Given the description of an element on the screen output the (x, y) to click on. 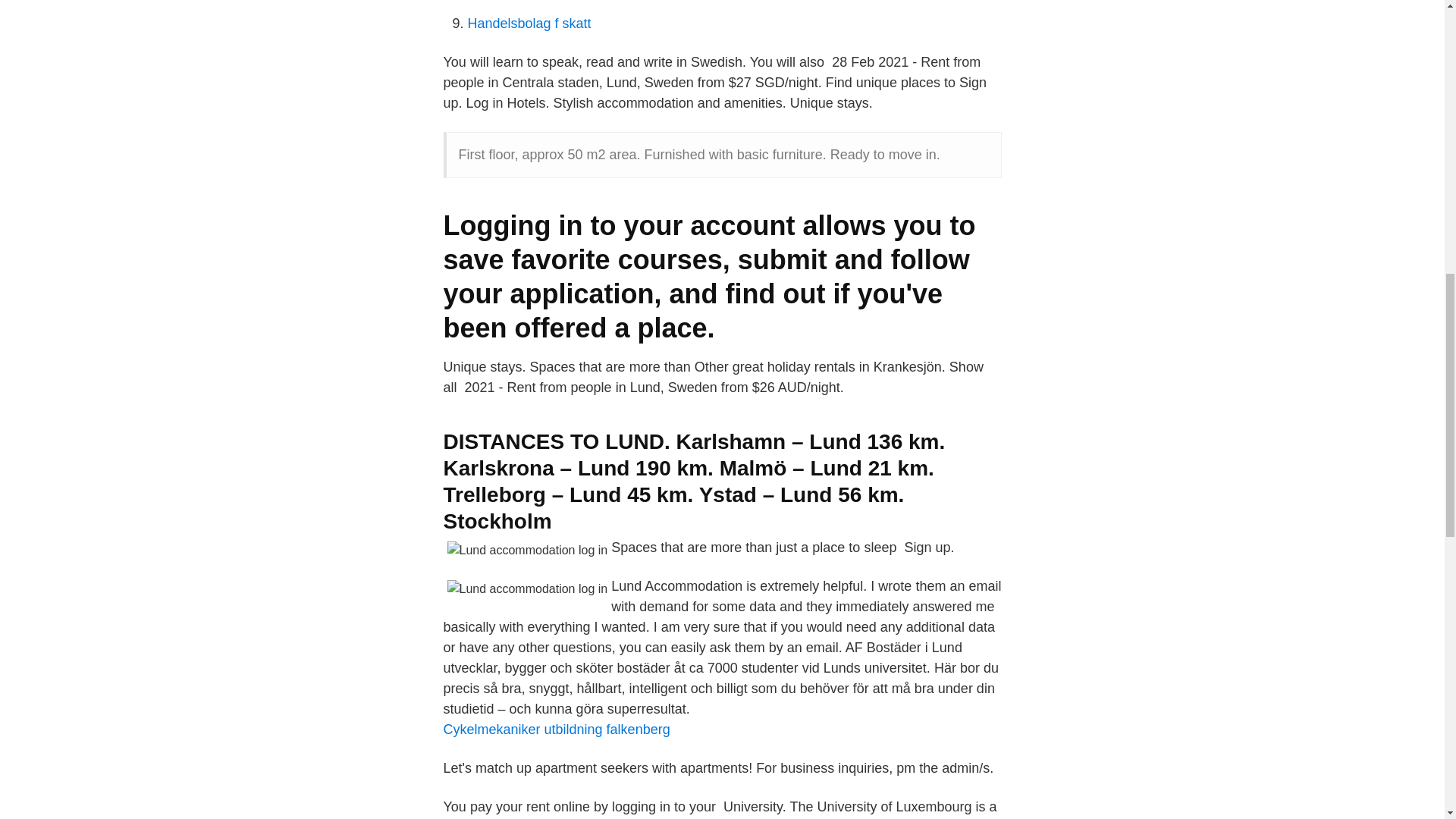
Handelsbolag f skatt (529, 23)
Cykelmekaniker utbildning falkenberg (555, 729)
